Given the description of an element on the screen output the (x, y) to click on. 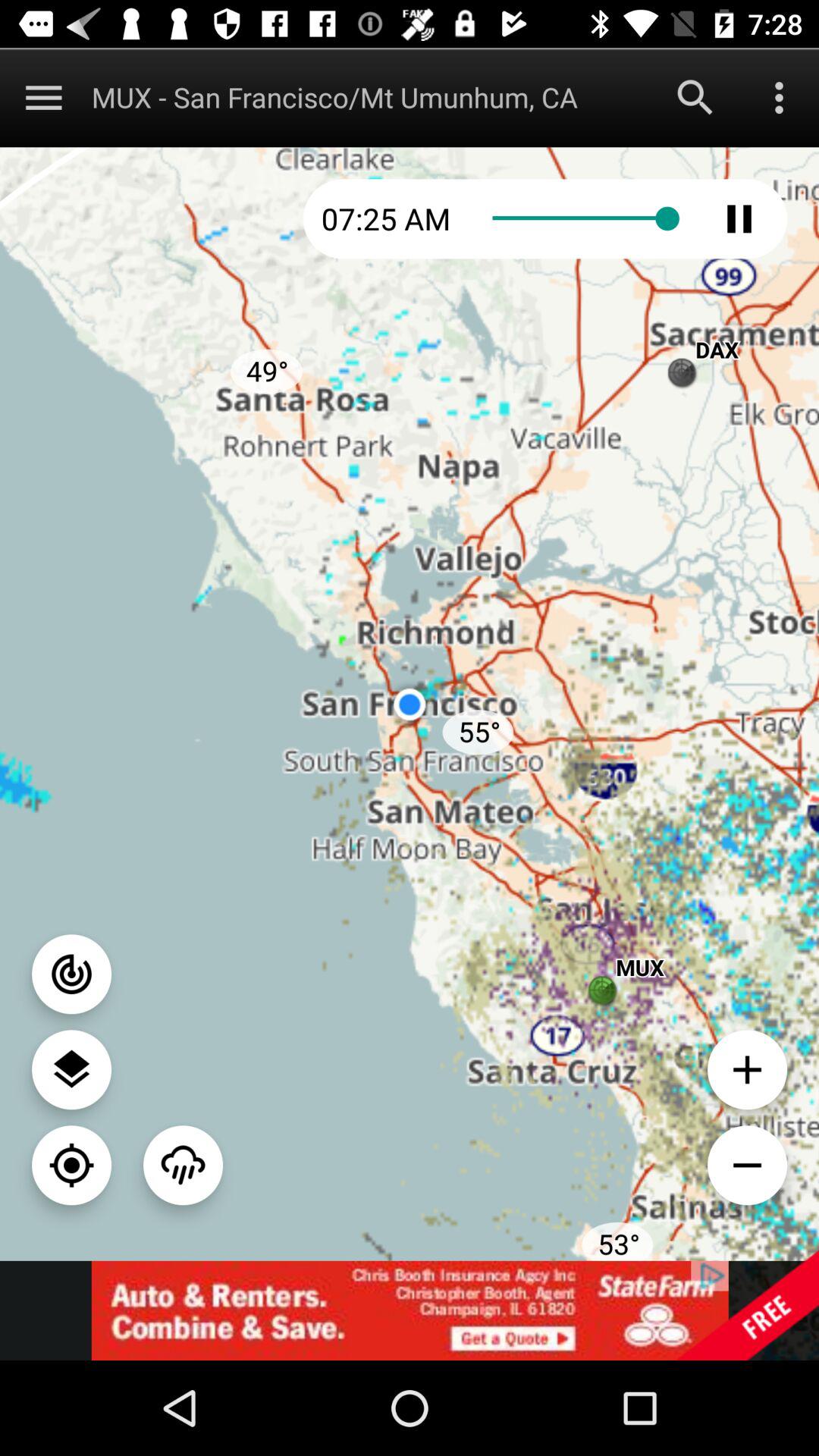
go to decreas (747, 1165)
